Given the description of an element on the screen output the (x, y) to click on. 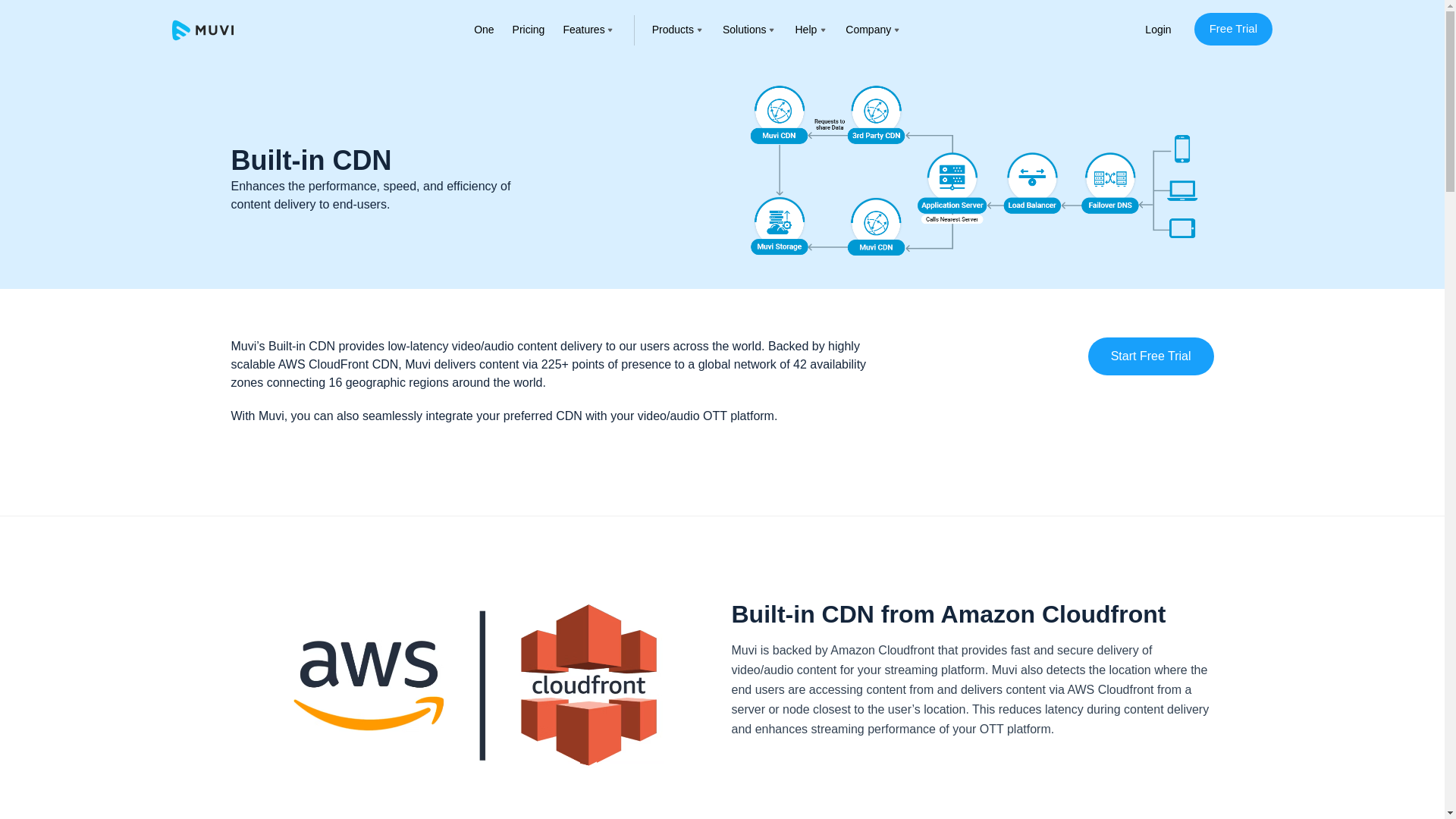
Products (673, 29)
Pricing (528, 29)
Features (583, 29)
Solutions (744, 29)
One (483, 29)
